Given the description of an element on the screen output the (x, y) to click on. 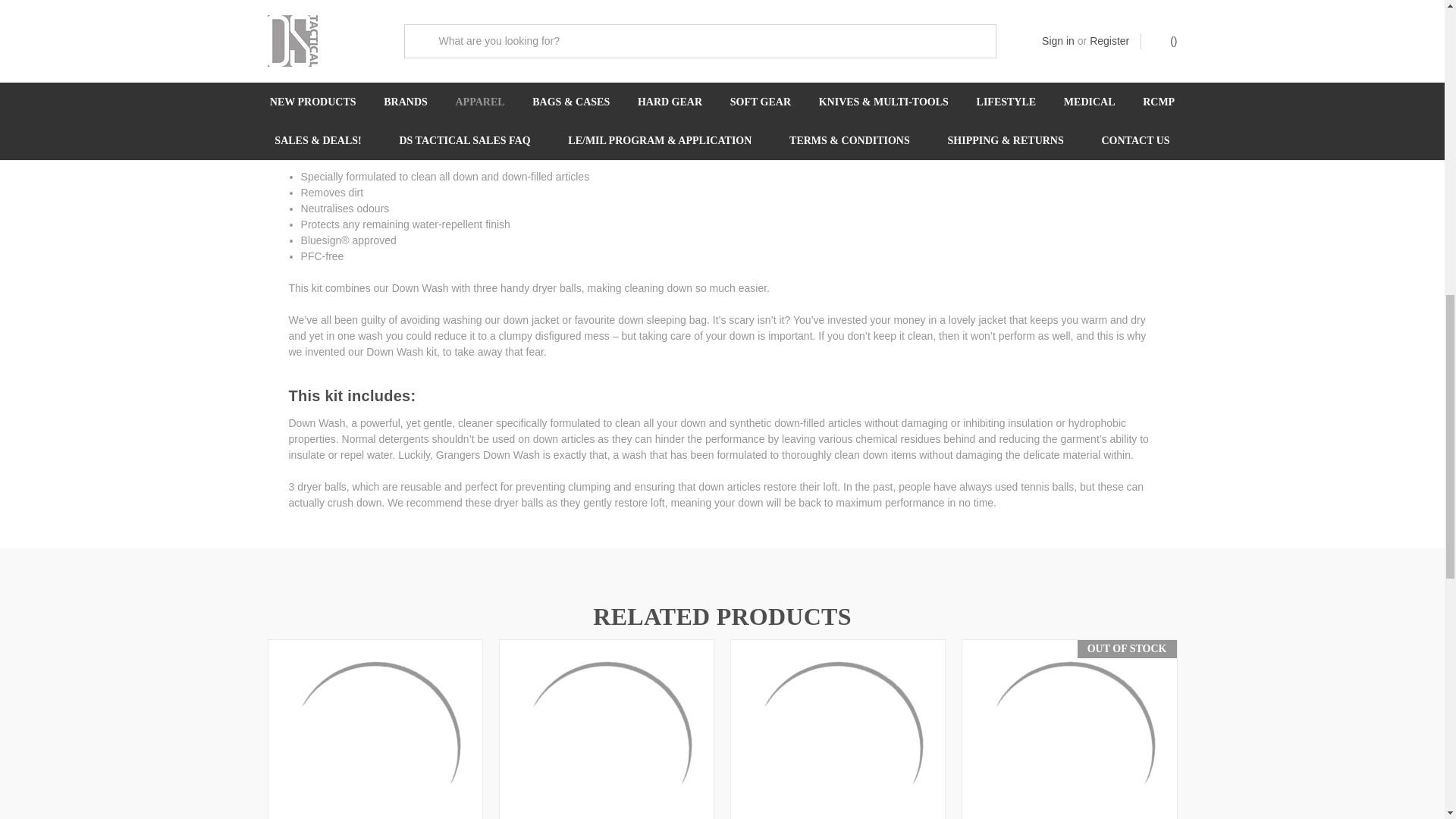
Grangers Down Care Kit (606, 730)
Grangers Performance Wash Concentrate Refill 1L (1068, 730)
Grangers Down Wash Concentrate (374, 730)
Grangers Performance Wash Concentrate (837, 730)
